Given the description of an element on the screen output the (x, y) to click on. 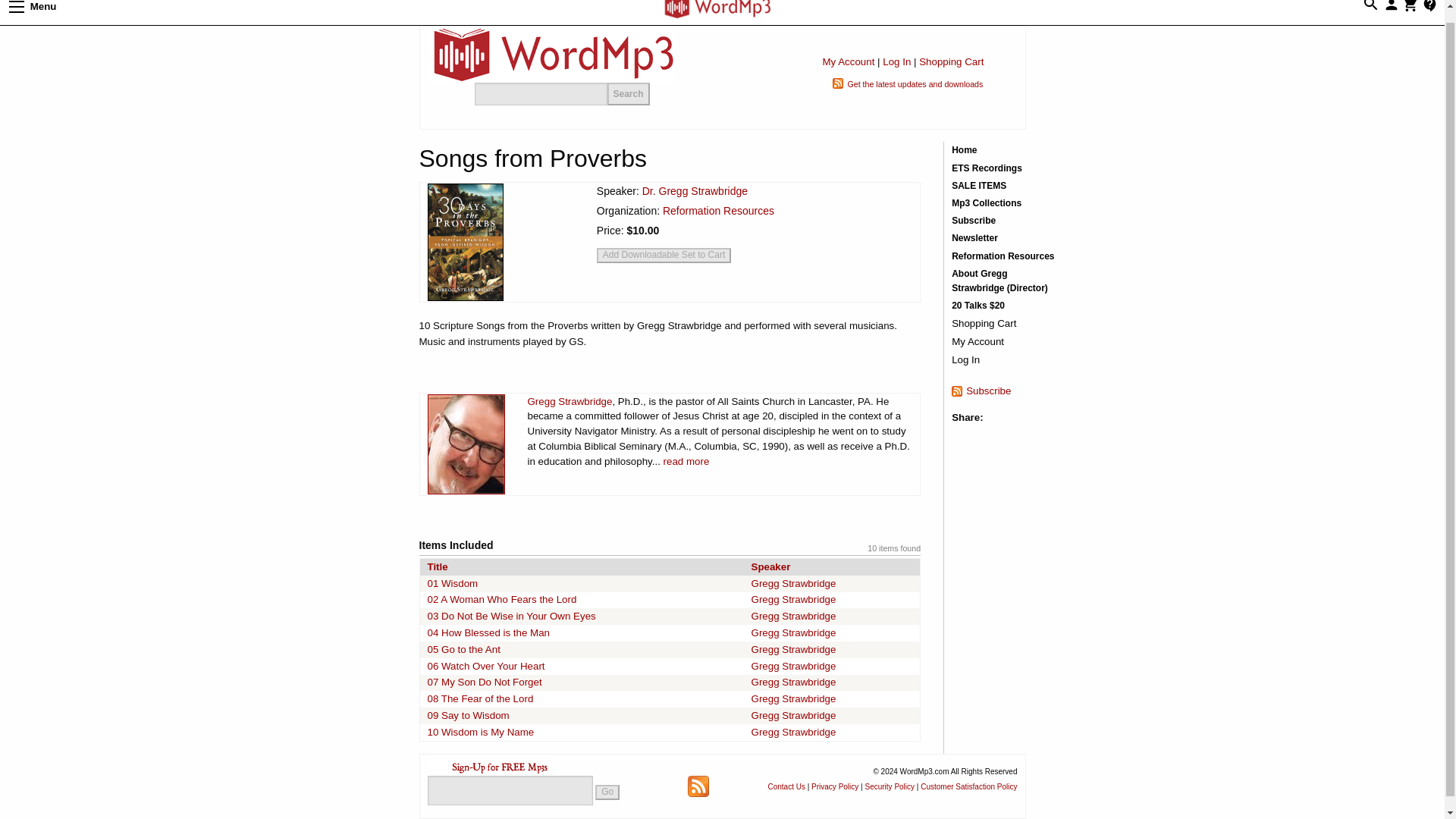
Go (607, 792)
Get the latest updates and downloads (914, 83)
Gregg Strawbridge (793, 649)
05 Go to the Ant (464, 649)
Speaker (770, 566)
Add Downloadable Set to Cart (663, 255)
Search (628, 93)
RSS feed (698, 785)
Title (438, 566)
Gregg Strawbridge (793, 615)
Gregg Strawbridge (793, 599)
Gregg Strawbridge (569, 401)
01 Wisdom (453, 583)
read more (686, 460)
02 A Woman Who Fears the Lord (502, 599)
